Given the description of an element on the screen output the (x, y) to click on. 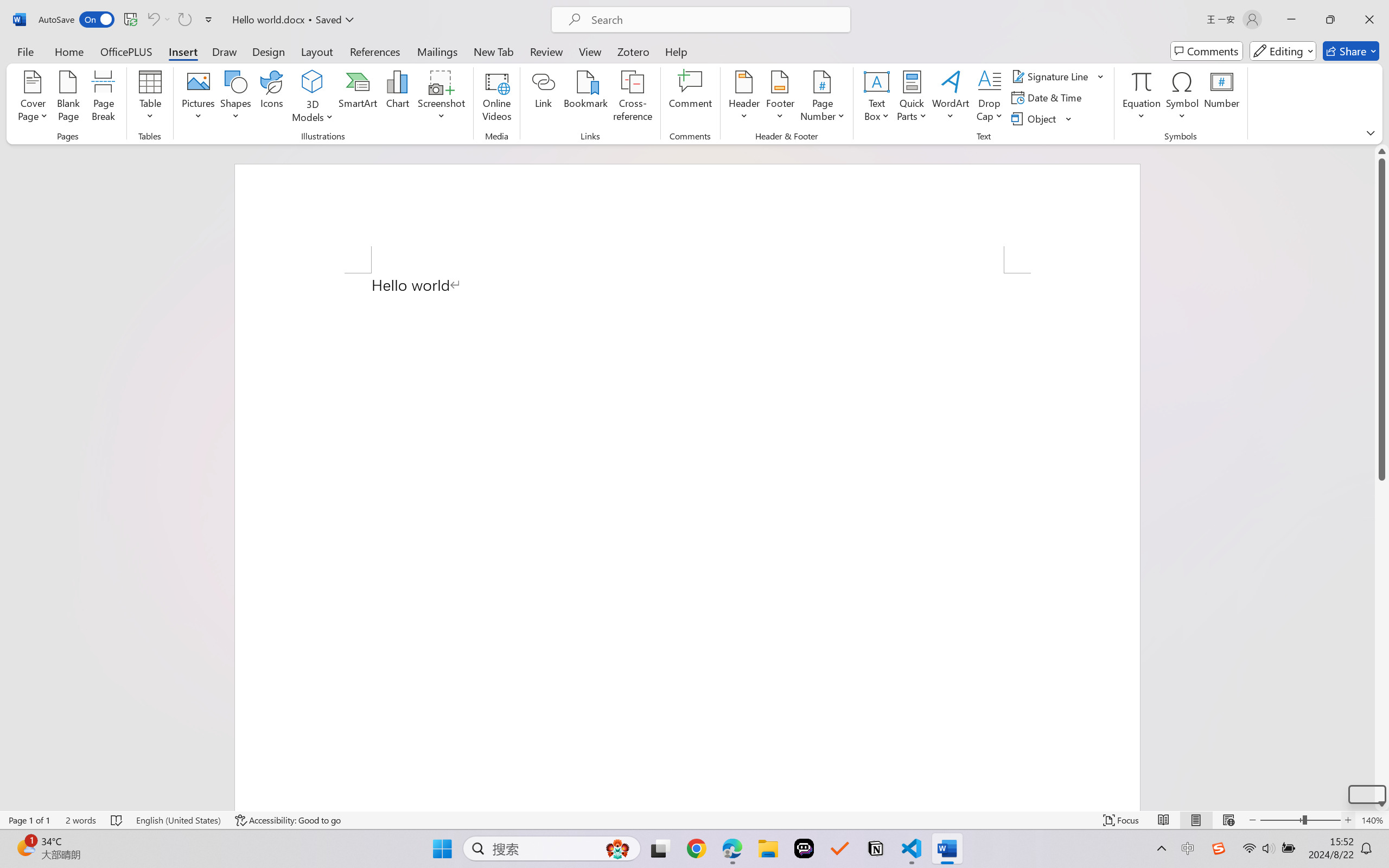
Accessibility Checker Accessibility: Good to go (288, 819)
File Tab (24, 51)
Ribbon Display Options (1370, 132)
Equation (1141, 97)
New Tab (493, 51)
3D Models (312, 97)
Number... (1221, 97)
Zoom Out (1280, 819)
Zoom In (1367, 793)
Drop Cap (989, 97)
Insert (182, 51)
Help (675, 51)
Language English (United States) (178, 819)
Zoom 140% (1372, 819)
